Given the description of an element on the screen output the (x, y) to click on. 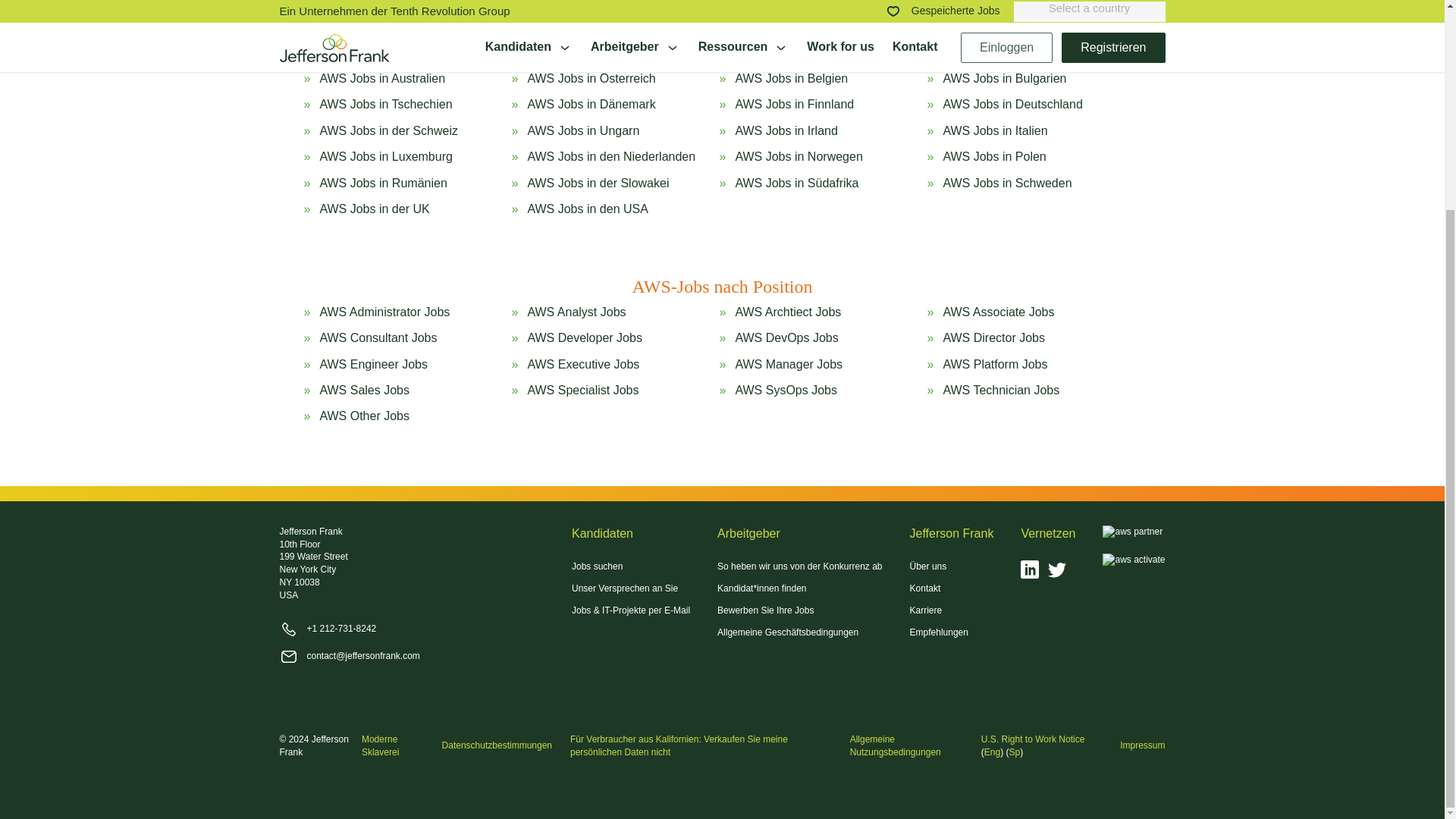
AWS Jobs in Irland (786, 130)
AWS Jobs in Ungarn (583, 130)
AWS Jobs in Australien (381, 78)
AWS Jobs in Bulgarien (1003, 78)
AWS Jobs in Luxemburg (384, 156)
AWS Jobs in Belgien (791, 78)
AWS Jobs in Finnland (794, 104)
AWS Jobs in Deutschland (1011, 104)
AWS Jobs in Italien (994, 130)
AWS Jobs in der Schweiz (388, 130)
